Given the description of an element on the screen output the (x, y) to click on. 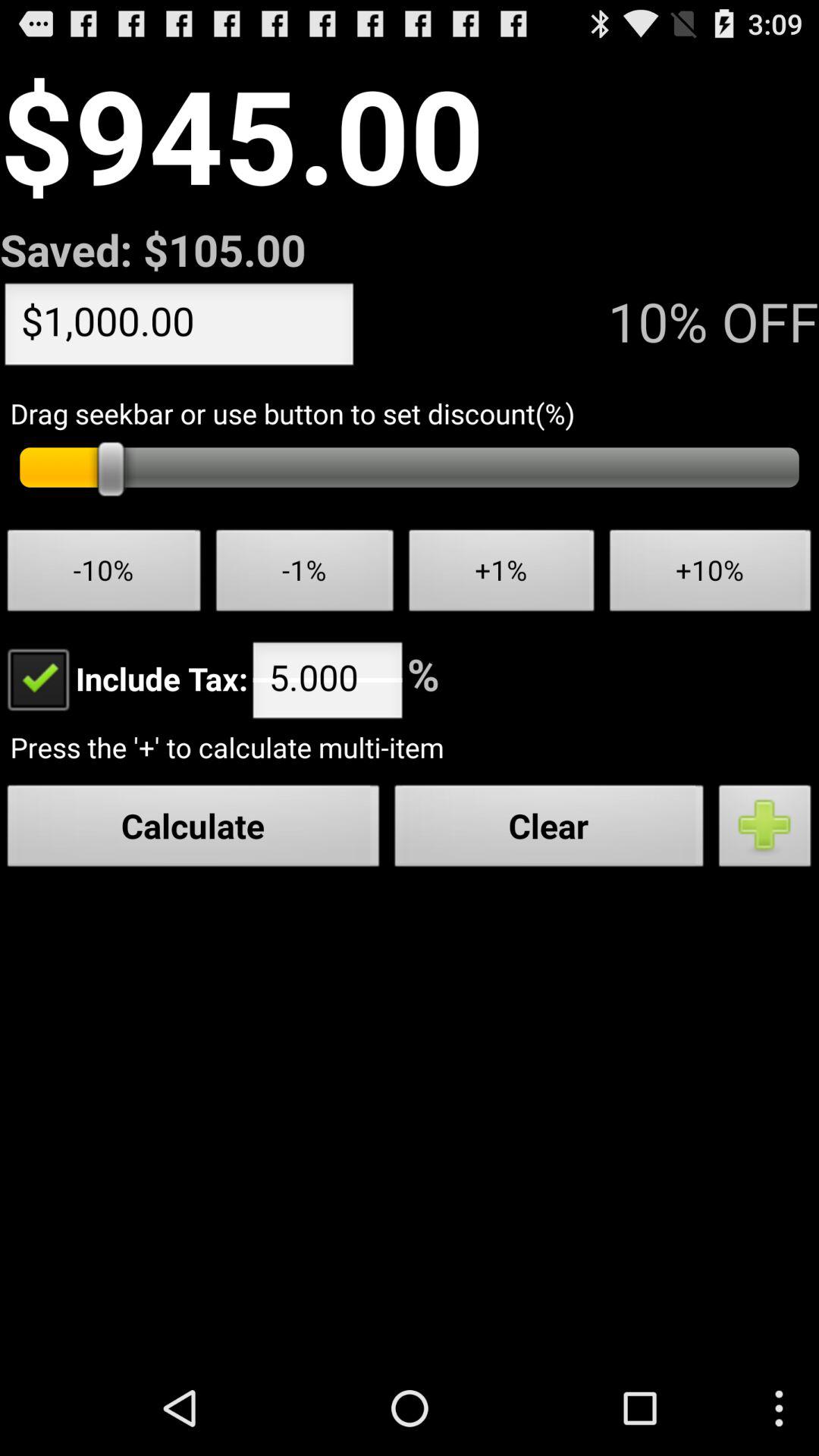
choose app below the press the to icon (549, 830)
